Given the description of an element on the screen output the (x, y) to click on. 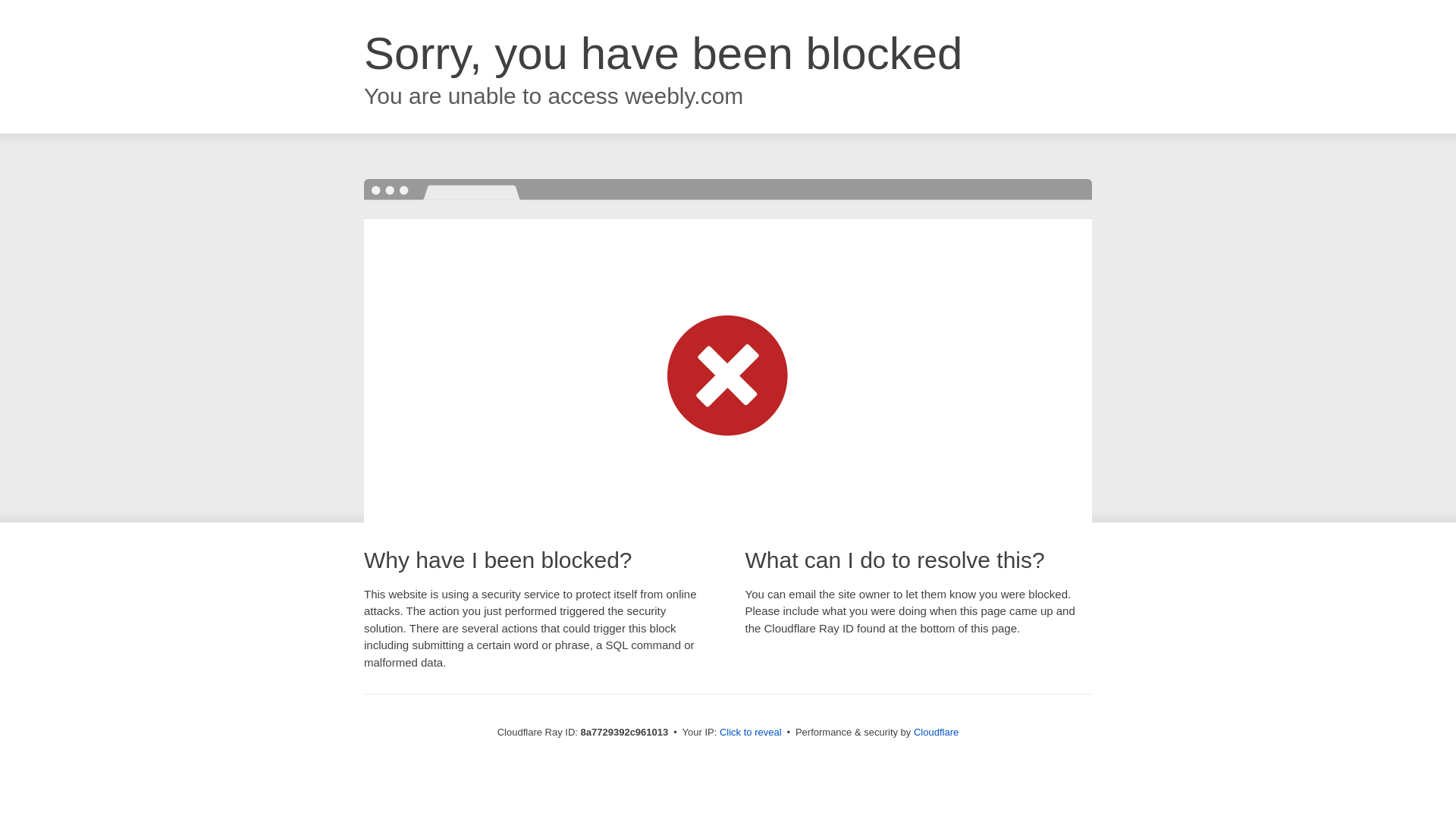
Cloudflare (936, 731)
Click to reveal (750, 732)
